Given the description of an element on the screen output the (x, y) to click on. 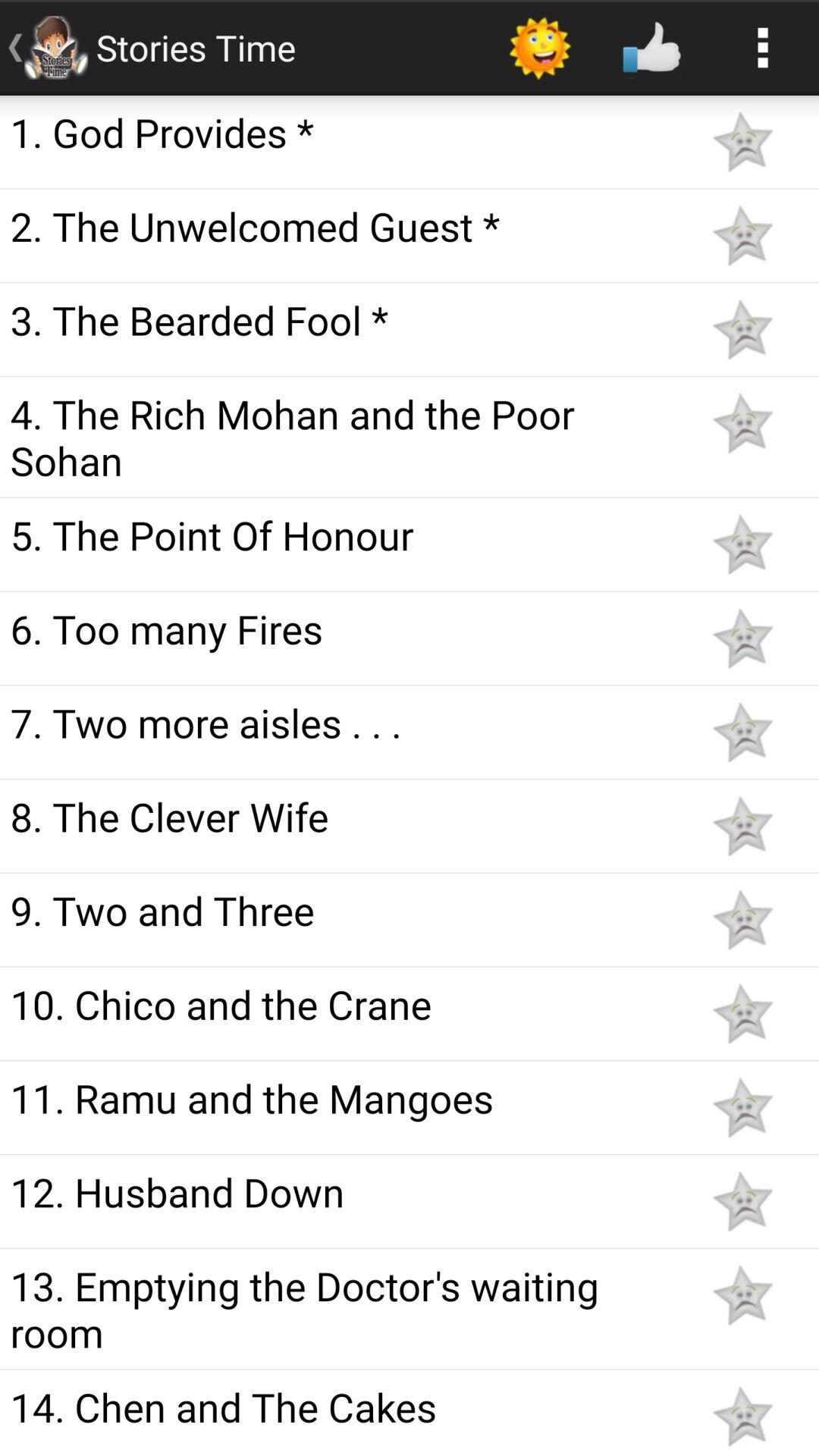
bookmark (742, 423)
